Given the description of an element on the screen output the (x, y) to click on. 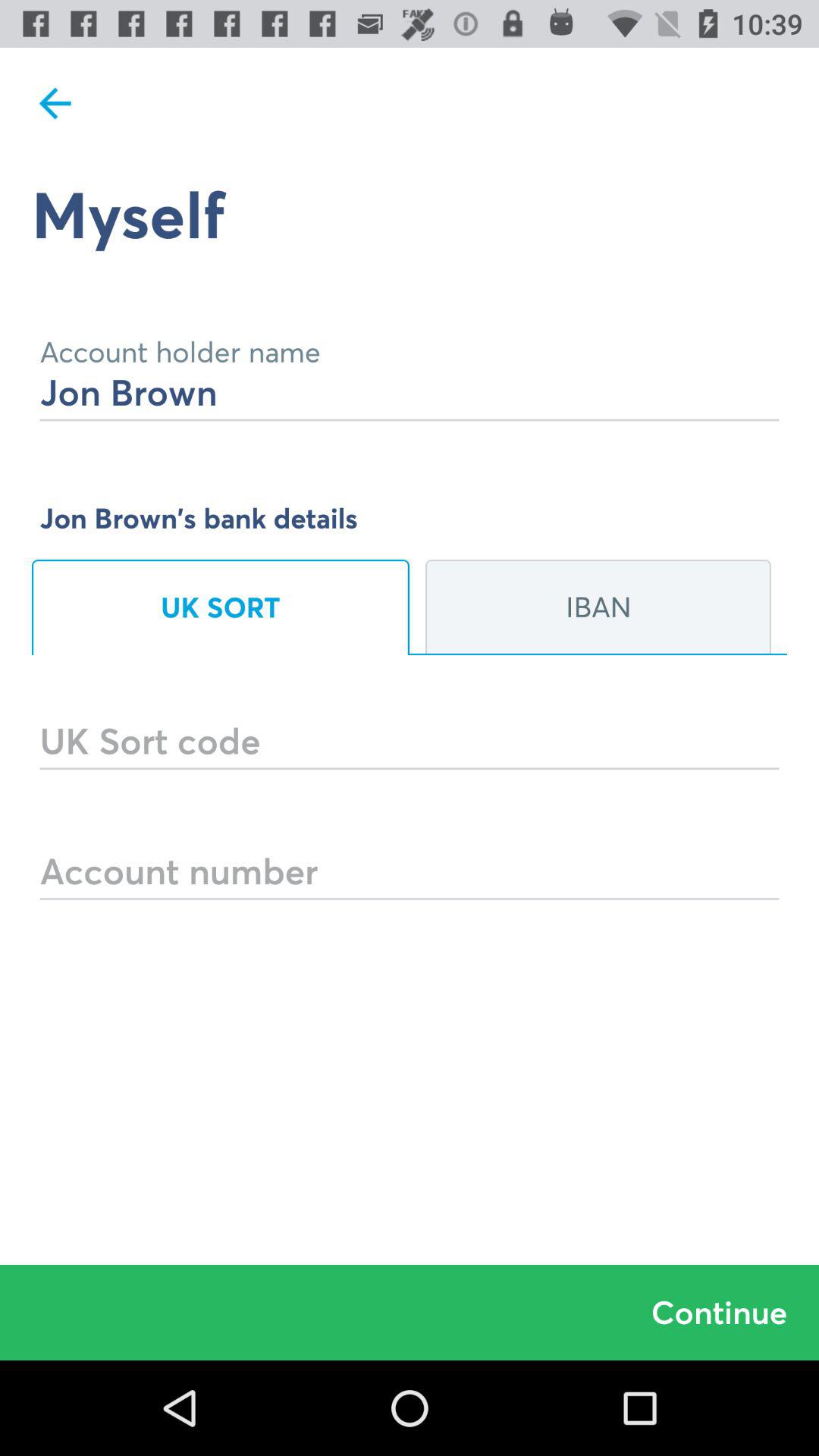
turn off the item next to the iban (220, 607)
